Given the description of an element on the screen output the (x, y) to click on. 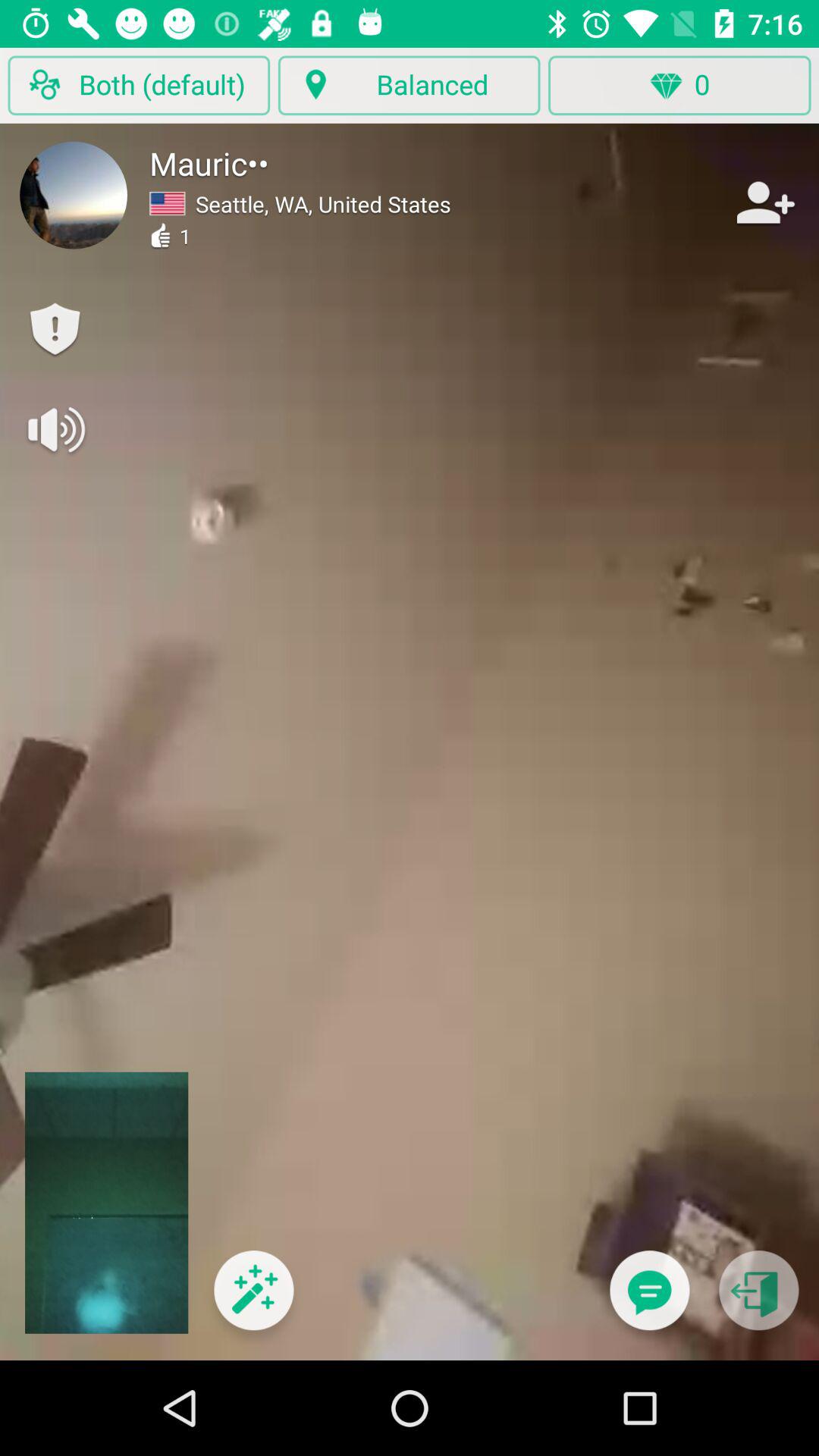
turn off the item below seattle wa united icon (253, 1300)
